Given the description of an element on the screen output the (x, y) to click on. 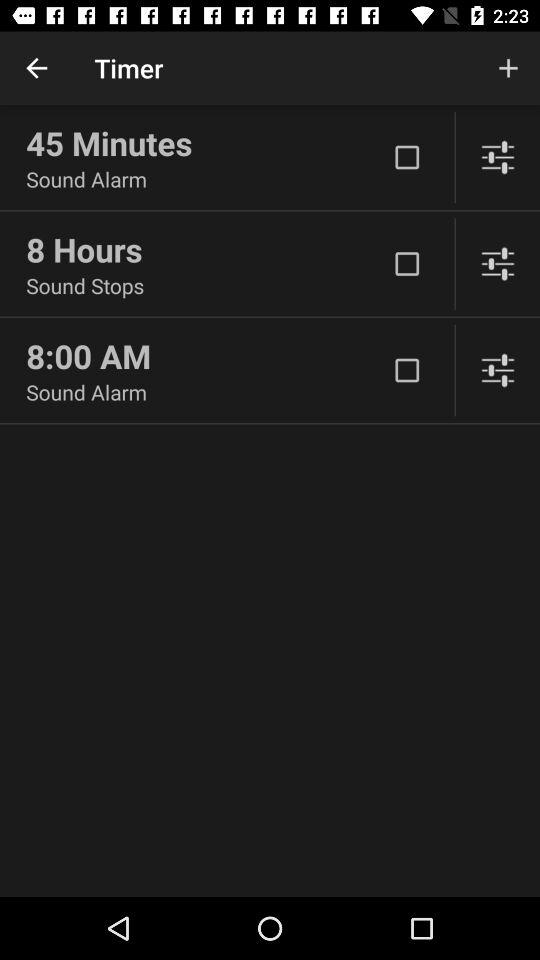
adjust sounds (498, 263)
